Given the description of an element on the screen output the (x, y) to click on. 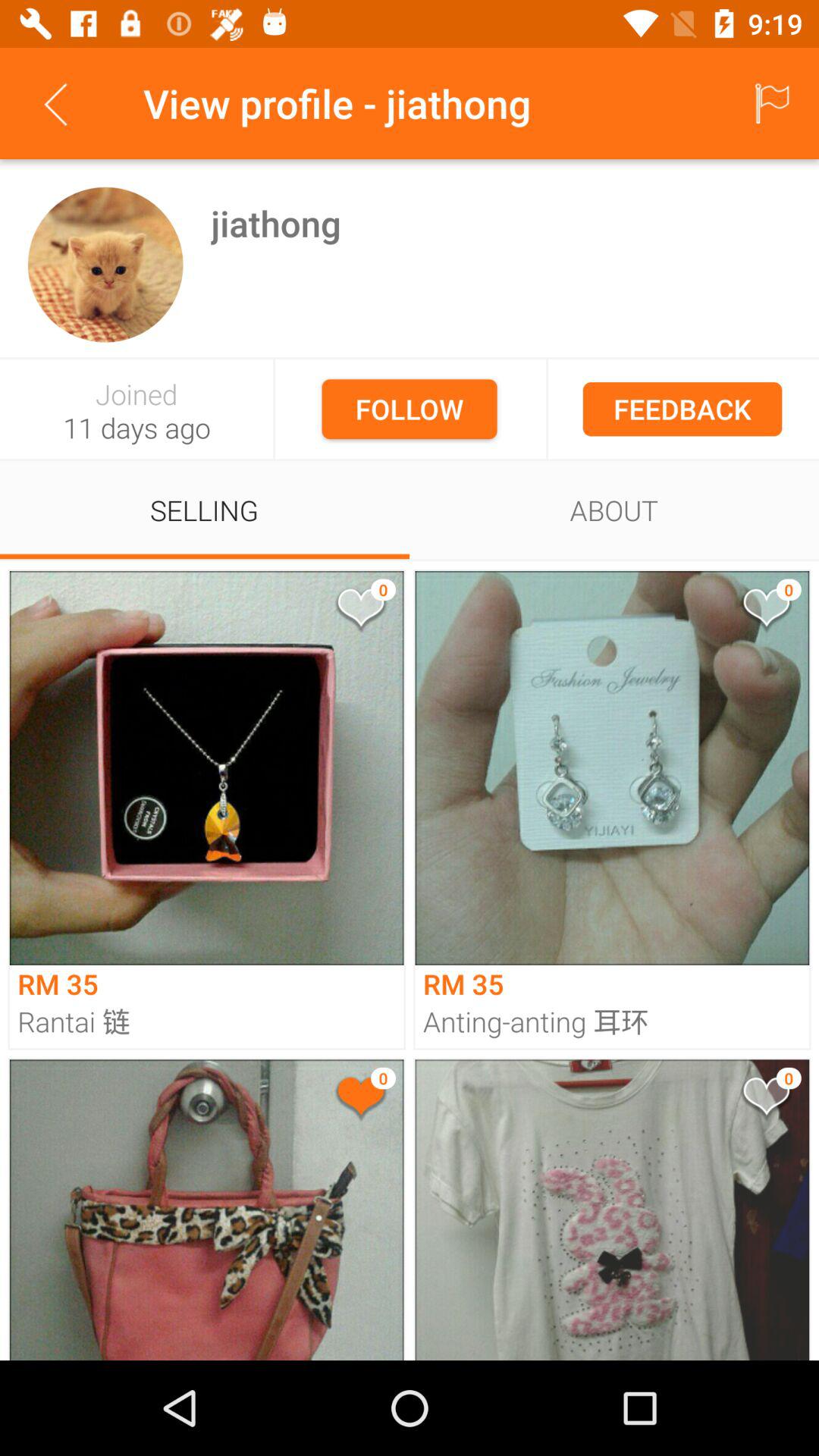
favorite item (359, 610)
